Given the description of an element on the screen output the (x, y) to click on. 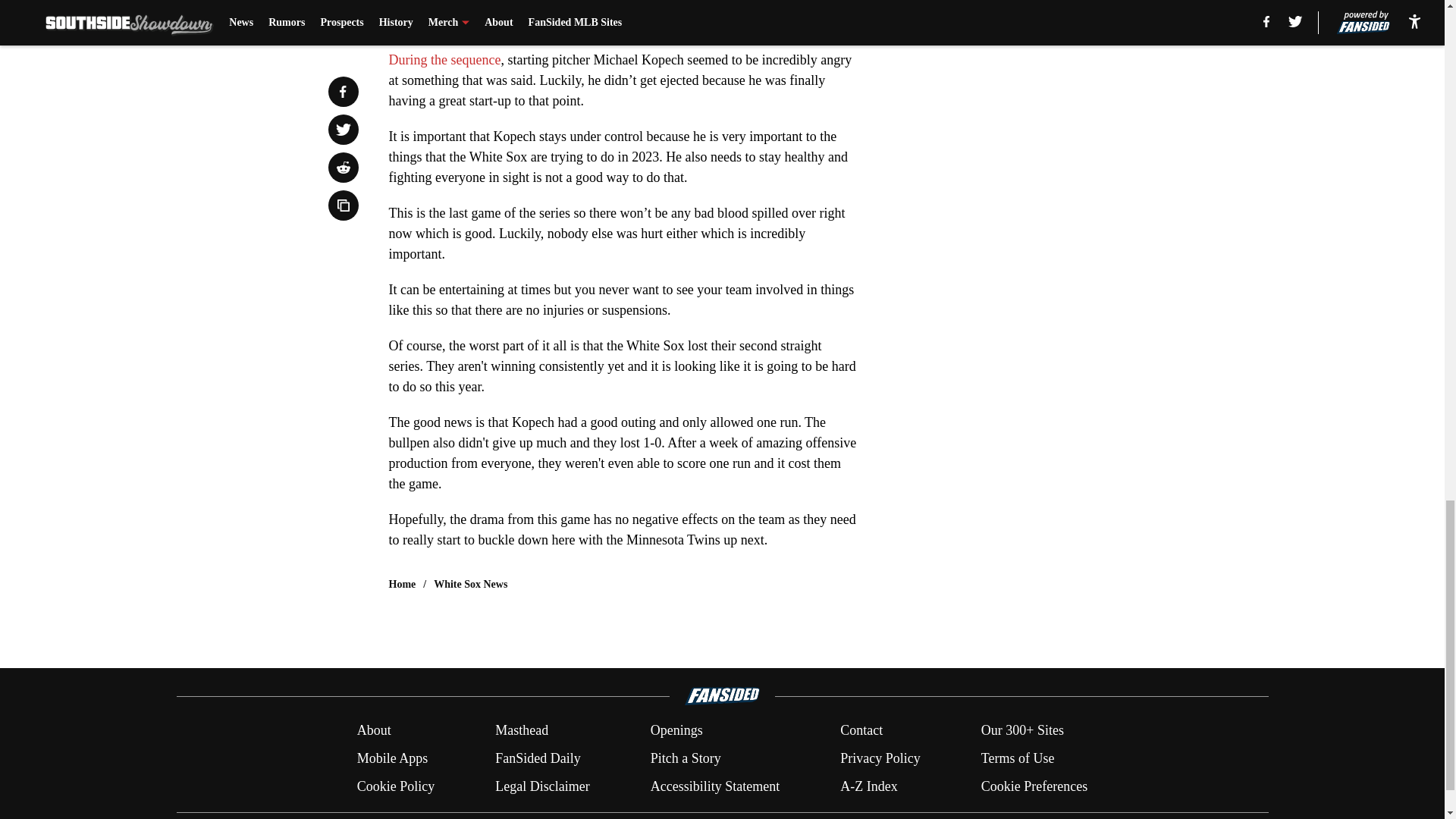
White Sox News (469, 584)
Masthead (521, 730)
During the sequence (444, 59)
Openings (676, 730)
Contact (861, 730)
Terms of Use (1017, 758)
Legal Disclaimer (542, 786)
Cookie Policy (395, 786)
About (373, 730)
A-Z Index (868, 786)
Pitch a Story (685, 758)
Privacy Policy (880, 758)
Cookie Preferences (1034, 786)
FanSided Daily (537, 758)
Accessibility Statement (714, 786)
